Given the description of an element on the screen output the (x, y) to click on. 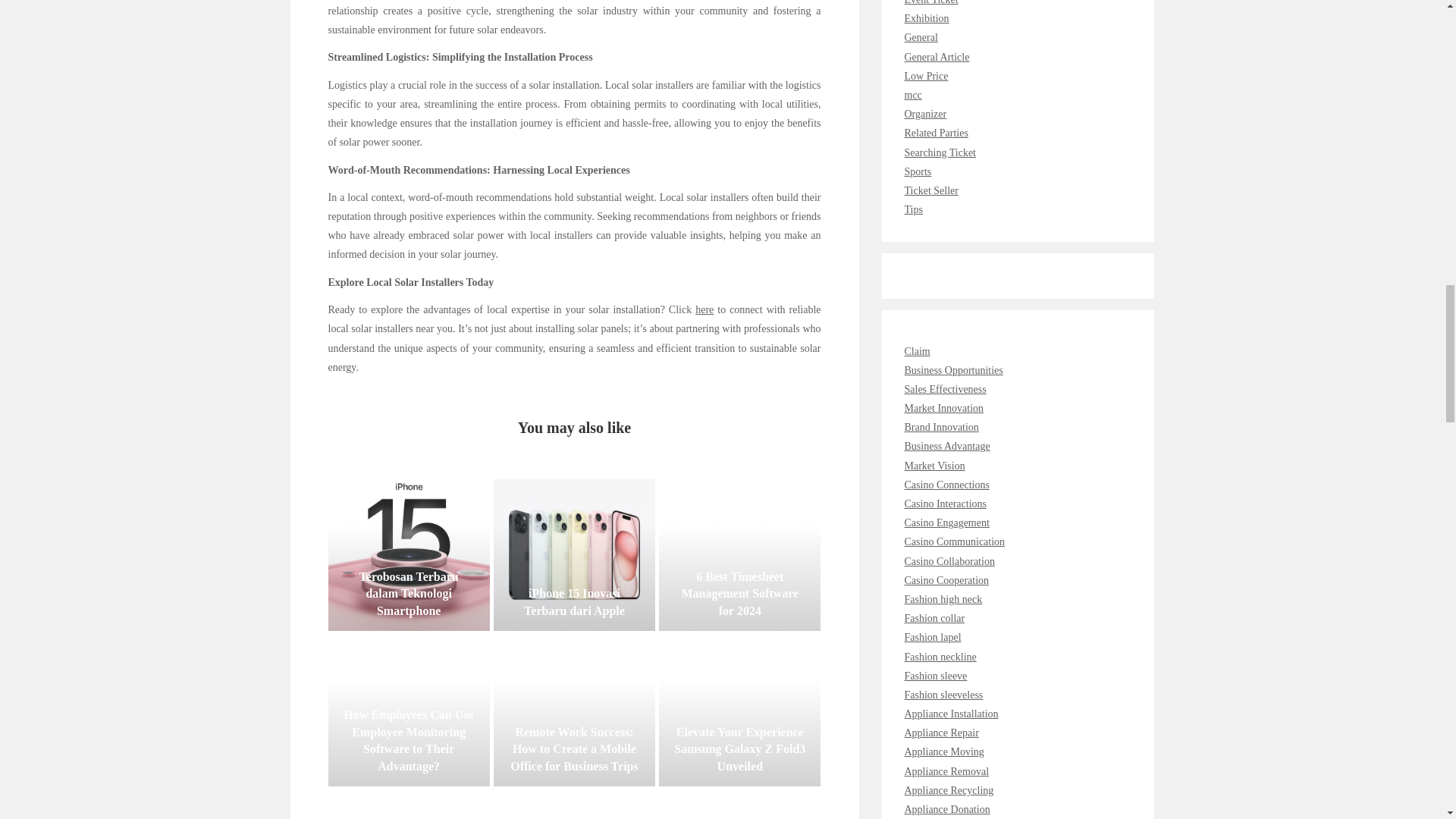
Terobosan Terbaru dalam Teknologi Smartphone (408, 554)
here (704, 309)
iPhone 15 Inovasi Terbaru dari Apple (574, 554)
6 Best Timesheet Management Software for 2024 (740, 554)
Elevate Your Experience Samsung Galaxy Z Fold3 Unveiled (740, 710)
